Given the description of an element on the screen output the (x, y) to click on. 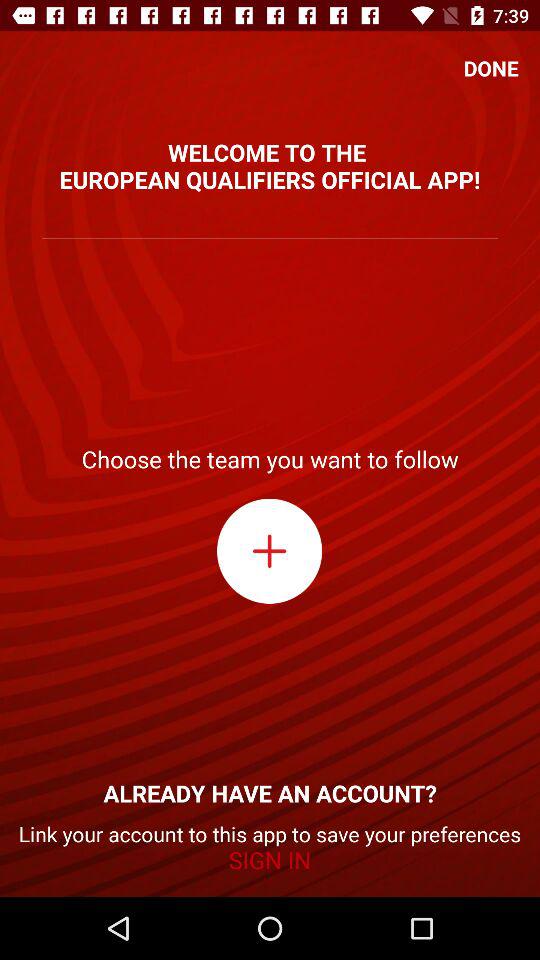
jump to done icon (491, 68)
